Given the description of an element on the screen output the (x, y) to click on. 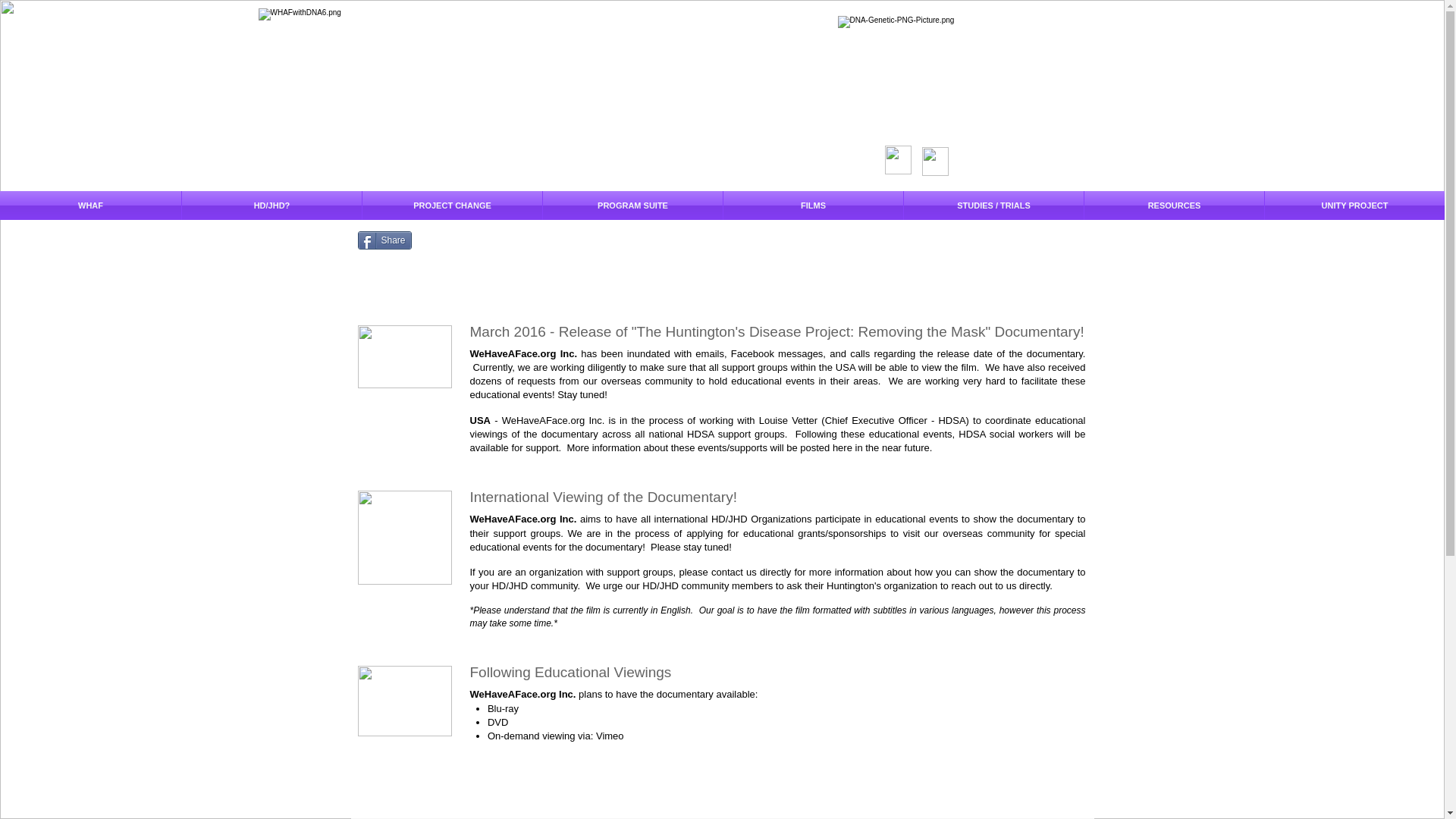
See the Trailer! (404, 356)
WHAF (90, 205)
Share (385, 239)
Share (385, 239)
PROGRAM SUITE (632, 205)
RESOURCES (1173, 205)
Facebook Like (455, 240)
FILMS (812, 205)
Email us! (404, 537)
